Given the description of an element on the screen output the (x, y) to click on. 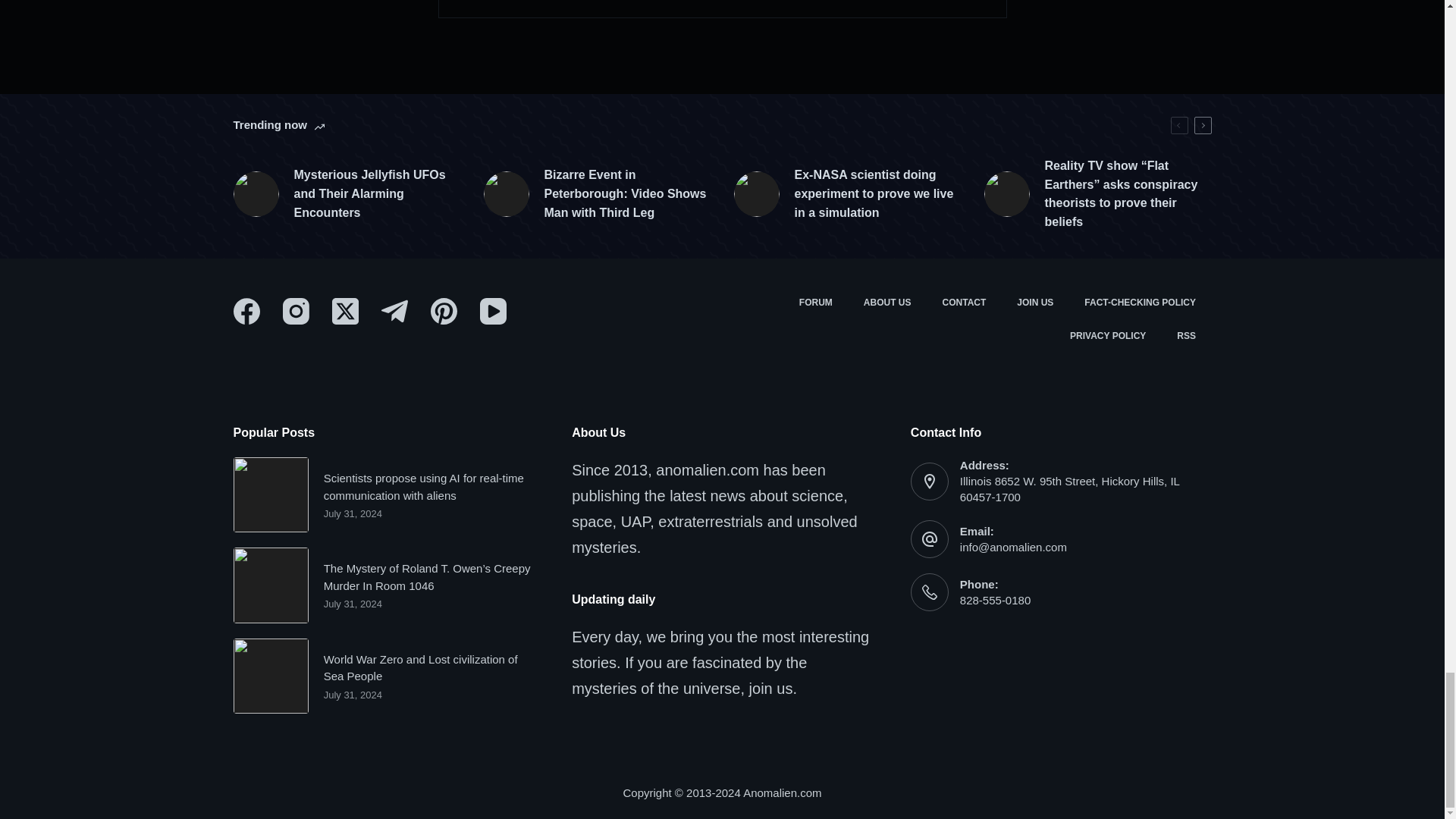
Comments (722, 9)
Discussion Forum (815, 303)
Contact us (964, 303)
